Given the description of an element on the screen output the (x, y) to click on. 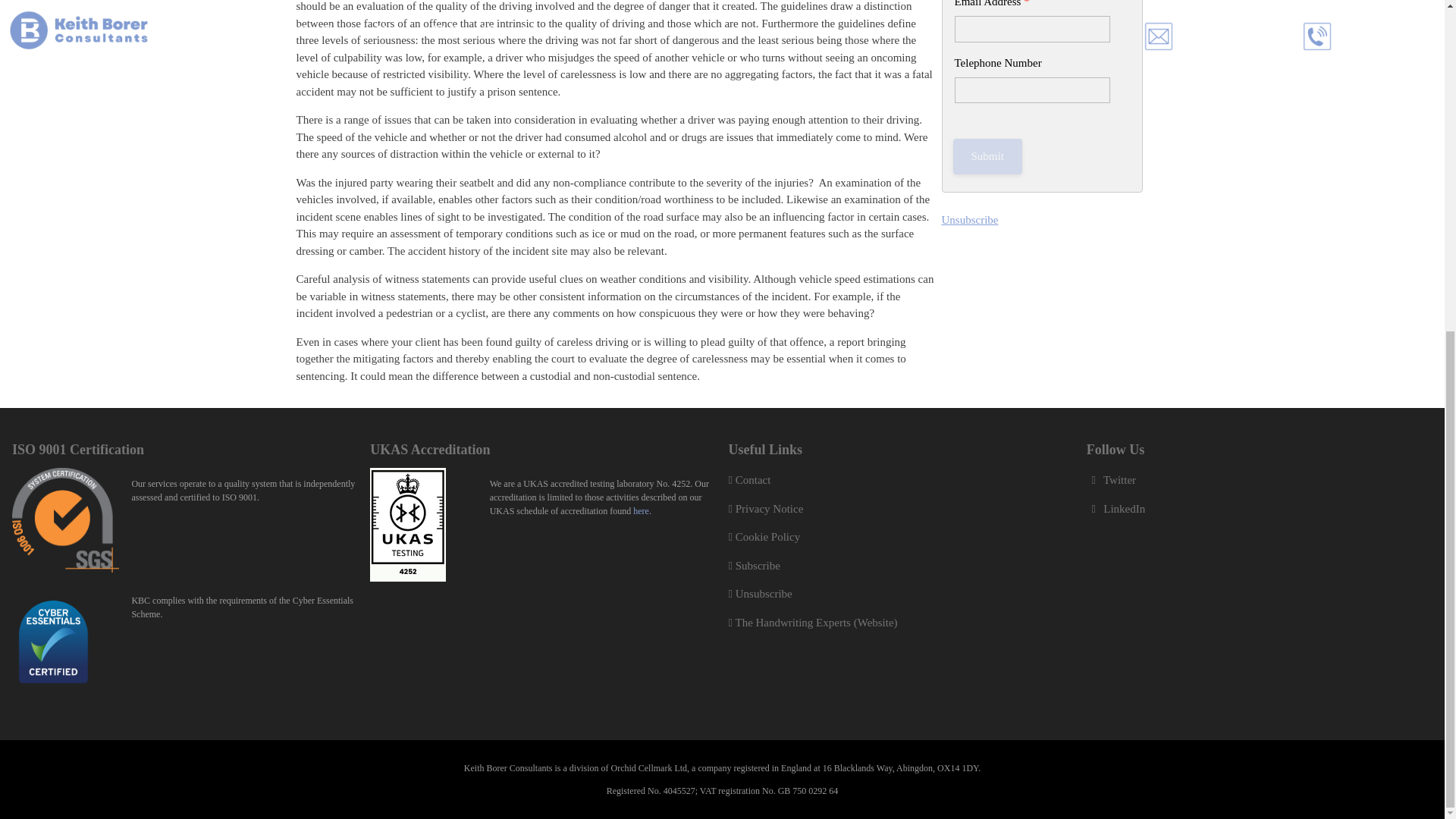
LinkedIn (1115, 508)
Gbnr 001553 Genericcertificate Final (65, 519)
here. (641, 511)
Contact (749, 480)
Cookie Policy (763, 536)
Unsubscribe (970, 218)
Subscribe (753, 565)
Unsubscribe (760, 593)
Unsubscribe (970, 218)
Privacy Notice (765, 508)
